Given the description of an element on the screen output the (x, y) to click on. 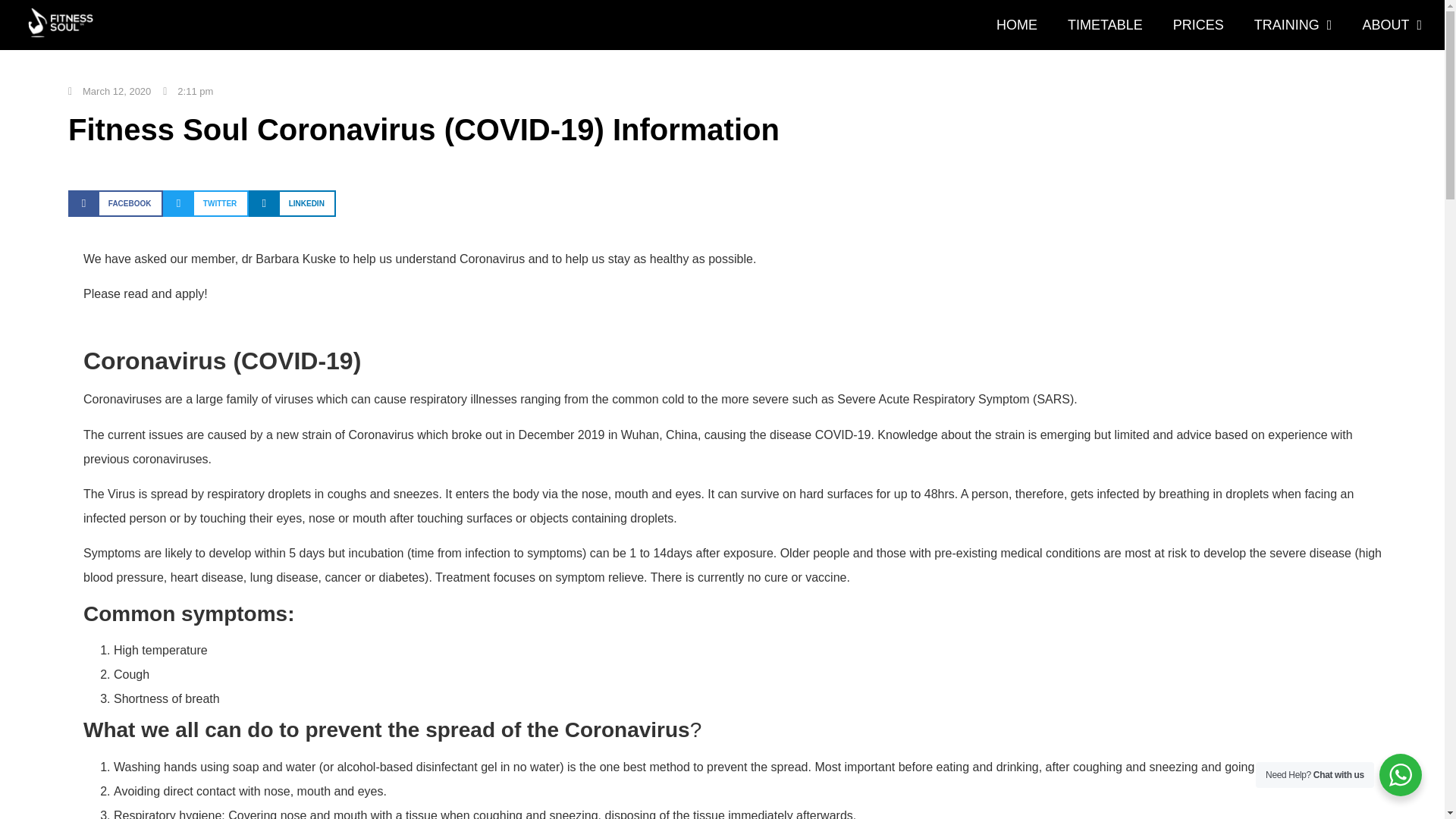
March 12, 2020 (109, 91)
HOME (1016, 24)
TIMETABLE (1104, 24)
ABOUT (1391, 24)
TRAINING (1293, 24)
PRICES (1198, 24)
